Given the description of an element on the screen output the (x, y) to click on. 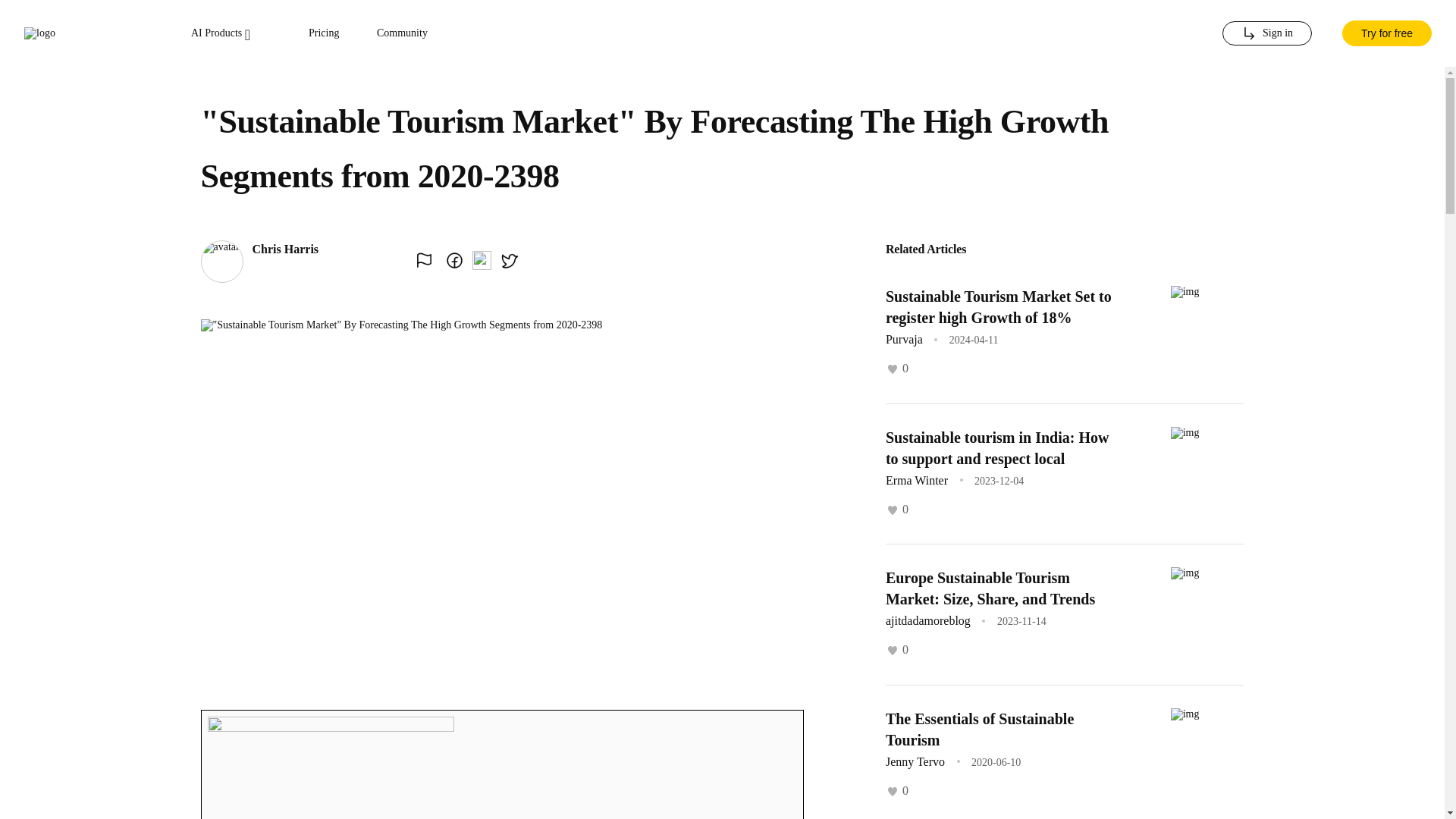
Pricing (323, 33)
Try for free (1386, 32)
 Sign in (1267, 33)
The Essentials of Sustainable Tourism (979, 728)
Community (402, 33)
